Given the description of an element on the screen output the (x, y) to click on. 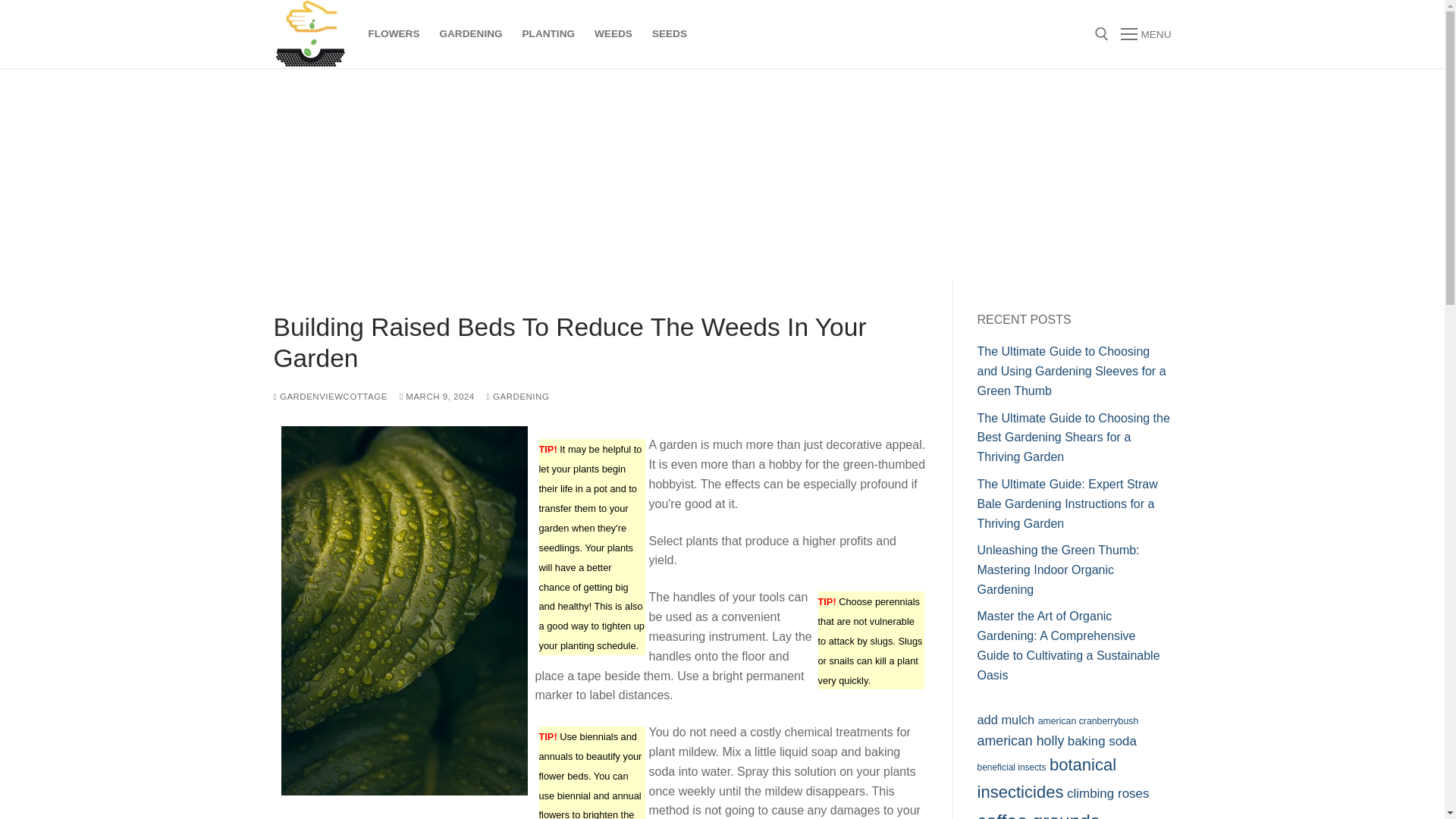
WEEDS (613, 33)
MARCH 9, 2024 (436, 396)
GARDENING (518, 396)
FLOWERS (393, 33)
american cranberrybush (1088, 720)
GARDENVIEWCOTTAGE (330, 396)
SEEDS (669, 33)
MENU (1145, 34)
PLANTING (548, 33)
